Given the description of an element on the screen output the (x, y) to click on. 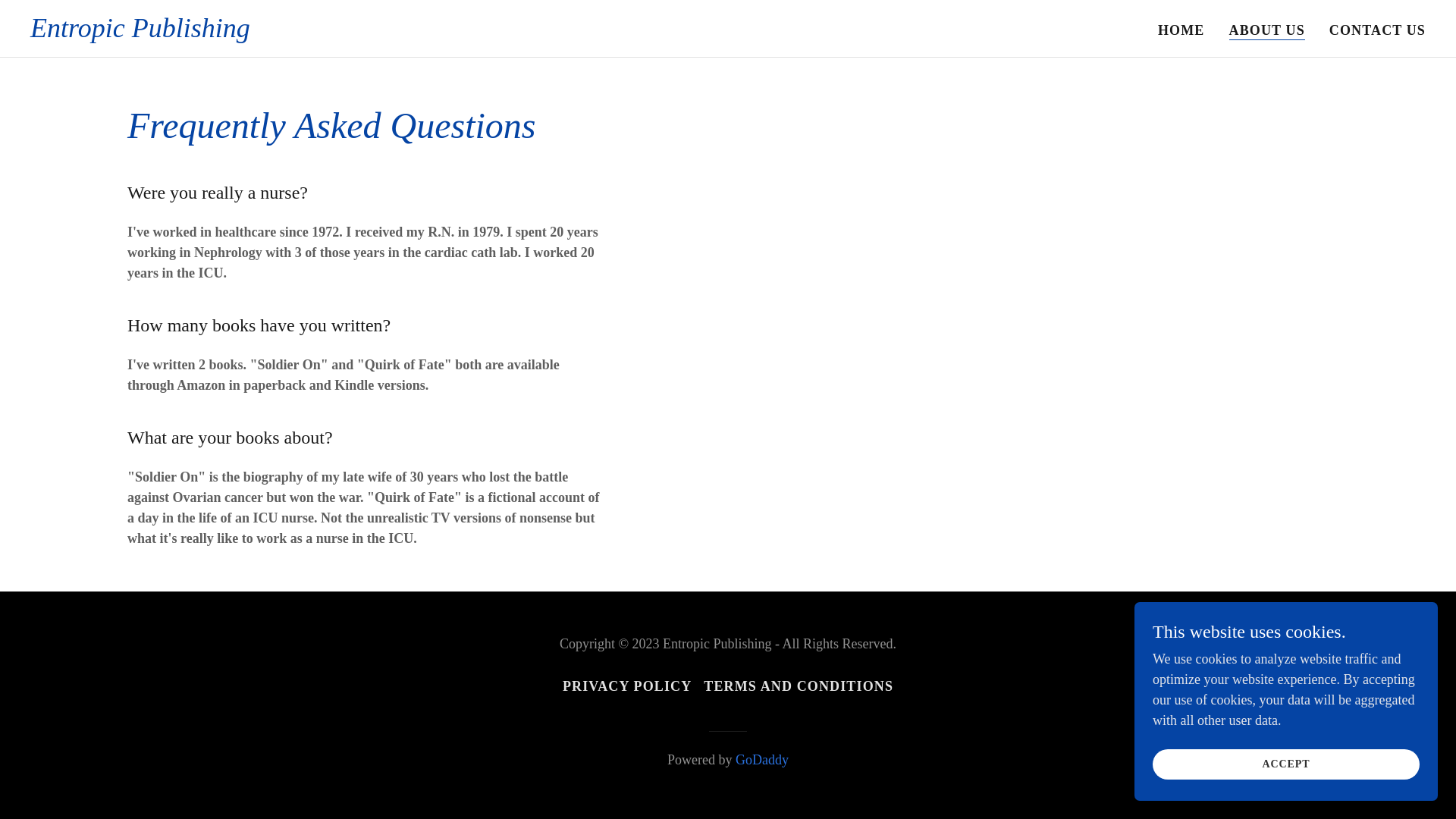
ACCEPT (1286, 764)
HOME (1181, 30)
GoDaddy (762, 759)
Entropic Publishing (140, 32)
PRIVACY POLICY (626, 686)
Entropic Publishing (140, 32)
CONTACT US (1376, 30)
TERMS AND CONDITIONS (798, 686)
ABOUT US (1266, 30)
